Given the description of an element on the screen output the (x, y) to click on. 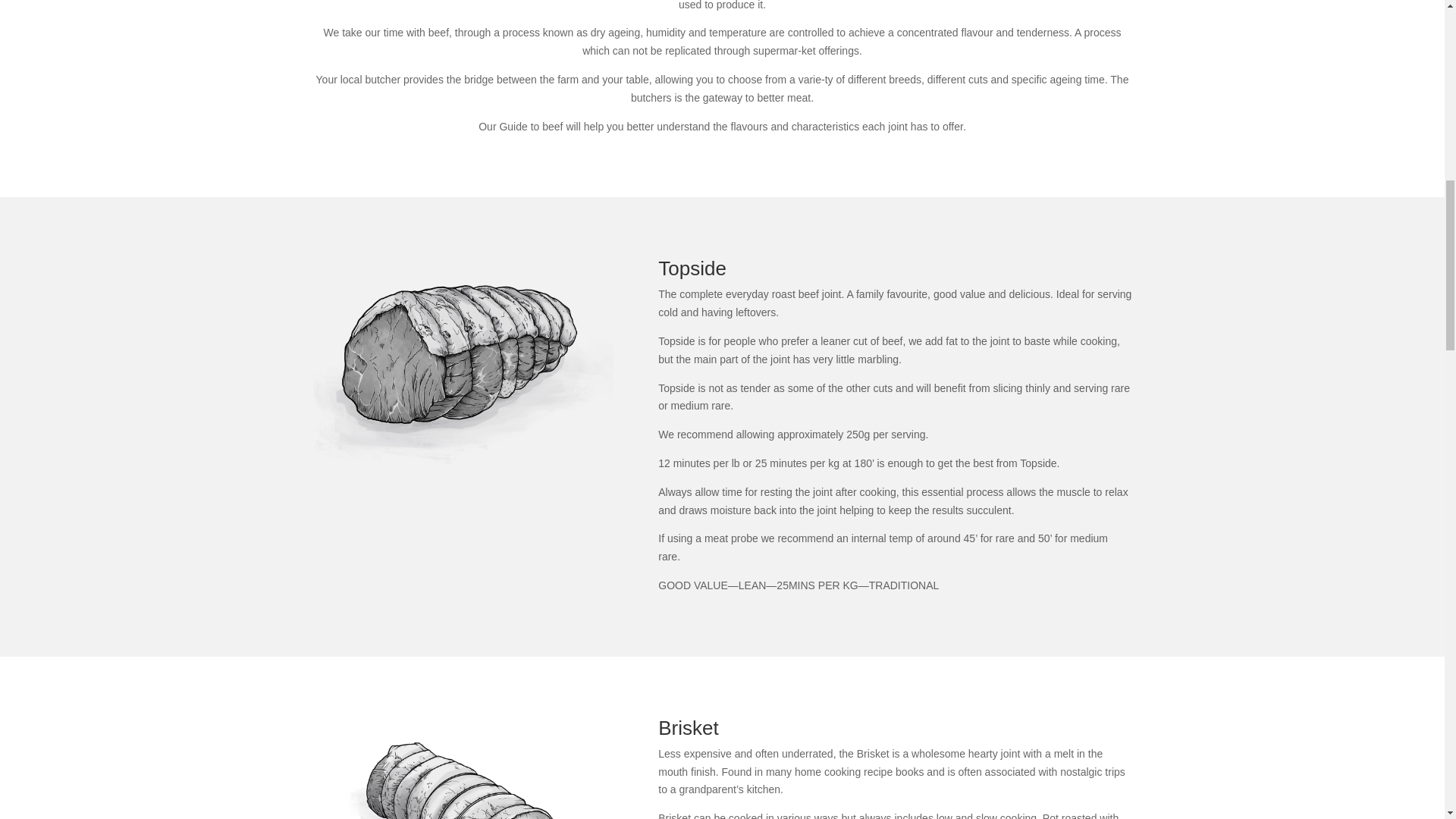
Brisket (462, 768)
Topside (462, 361)
